Given the description of an element on the screen output the (x, y) to click on. 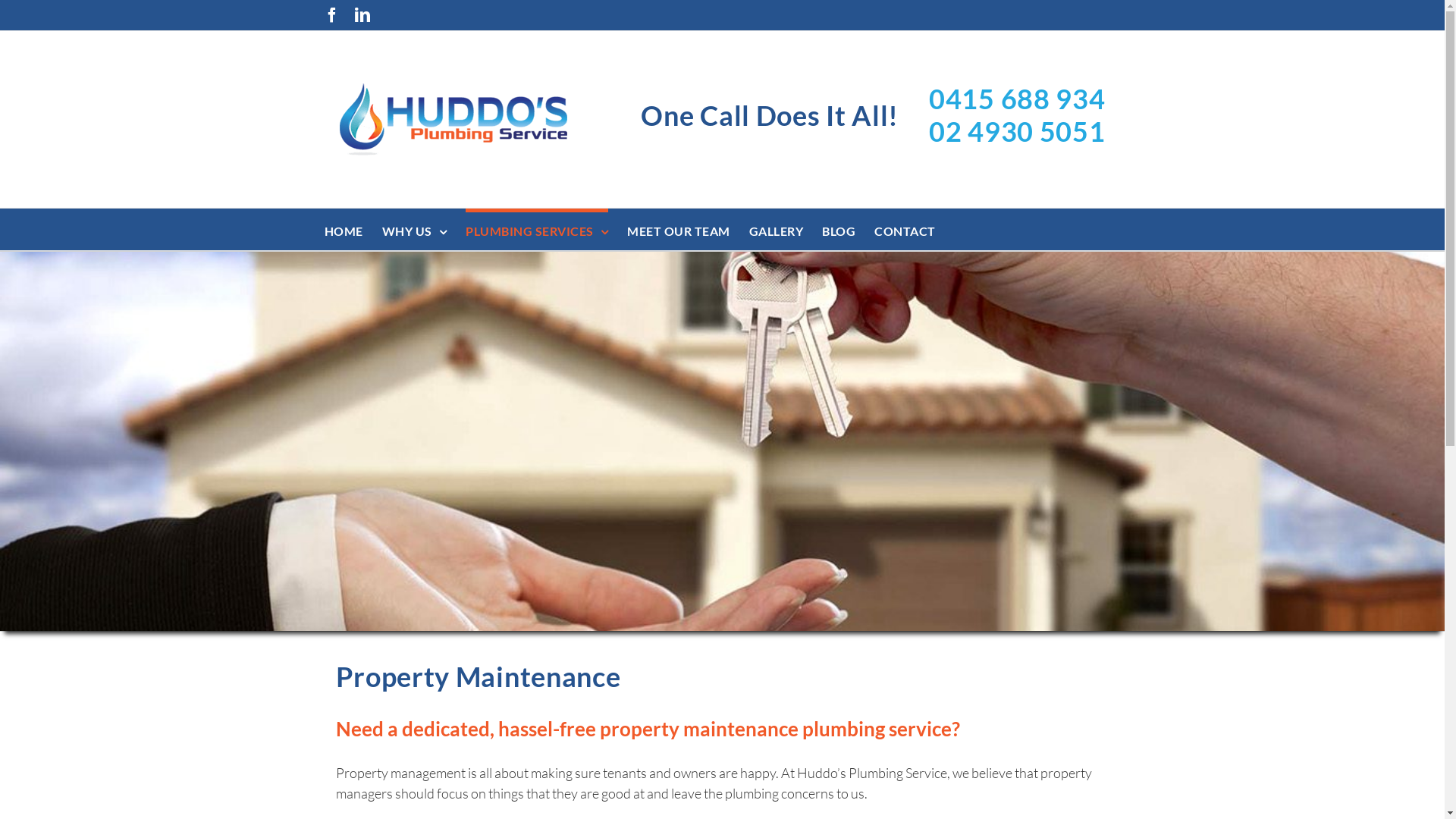
HOME Element type: text (343, 229)
PLUMBING SERVICES Element type: text (536, 229)
MEET OUR TEAM Element type: text (678, 229)
0415 688 934 Element type: text (1016, 98)
LinkedIn Element type: text (362, 14)
GALLERY Element type: text (776, 229)
BLOG Element type: text (838, 229)
02 4930 5051 Element type: text (1016, 131)
CONTACT Element type: text (904, 229)
Facebook Element type: text (331, 14)
WHY US Element type: text (414, 229)
